Given the description of an element on the screen output the (x, y) to click on. 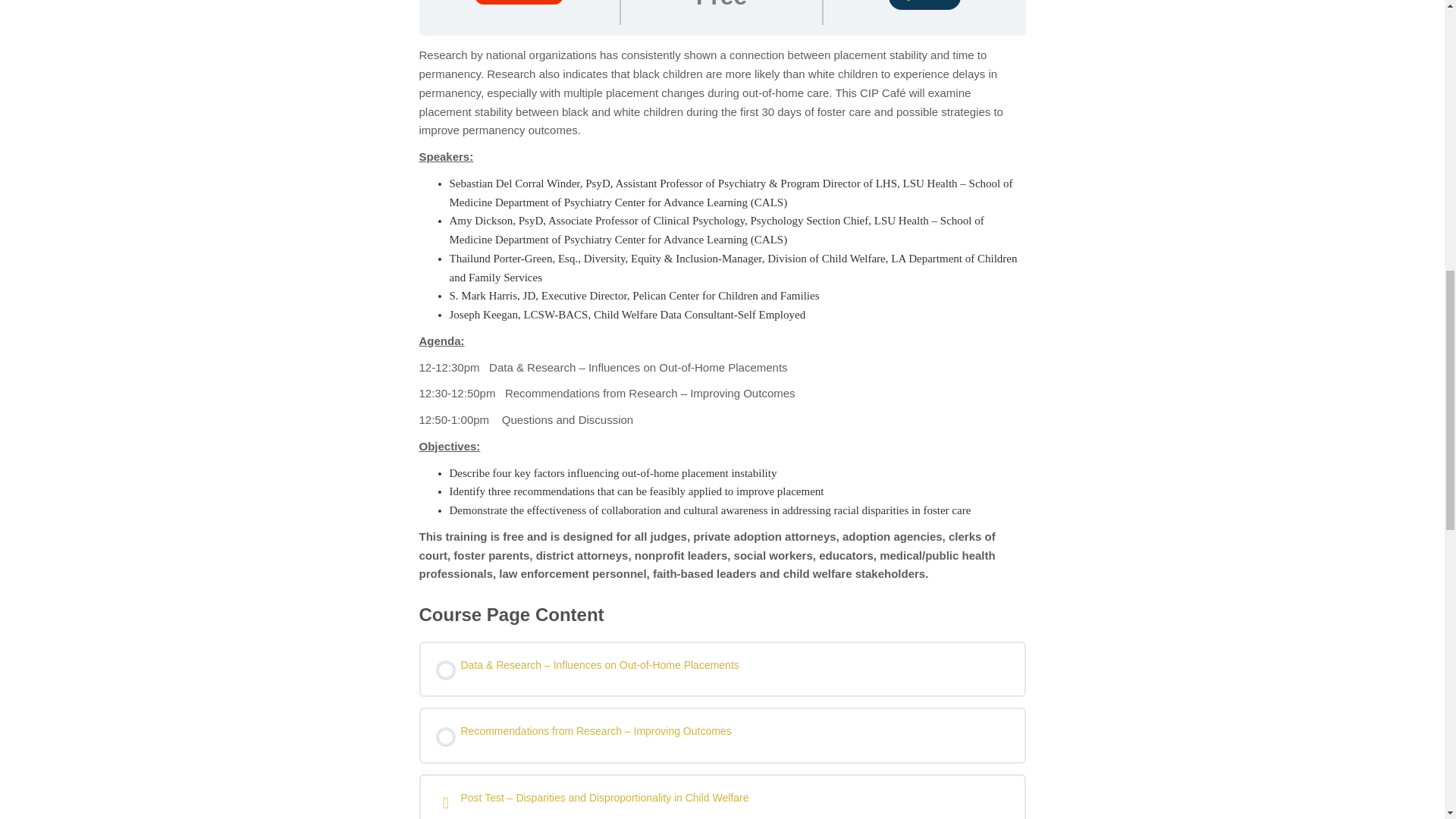
Login to Enroll (924, 4)
